Given the description of an element on the screen output the (x, y) to click on. 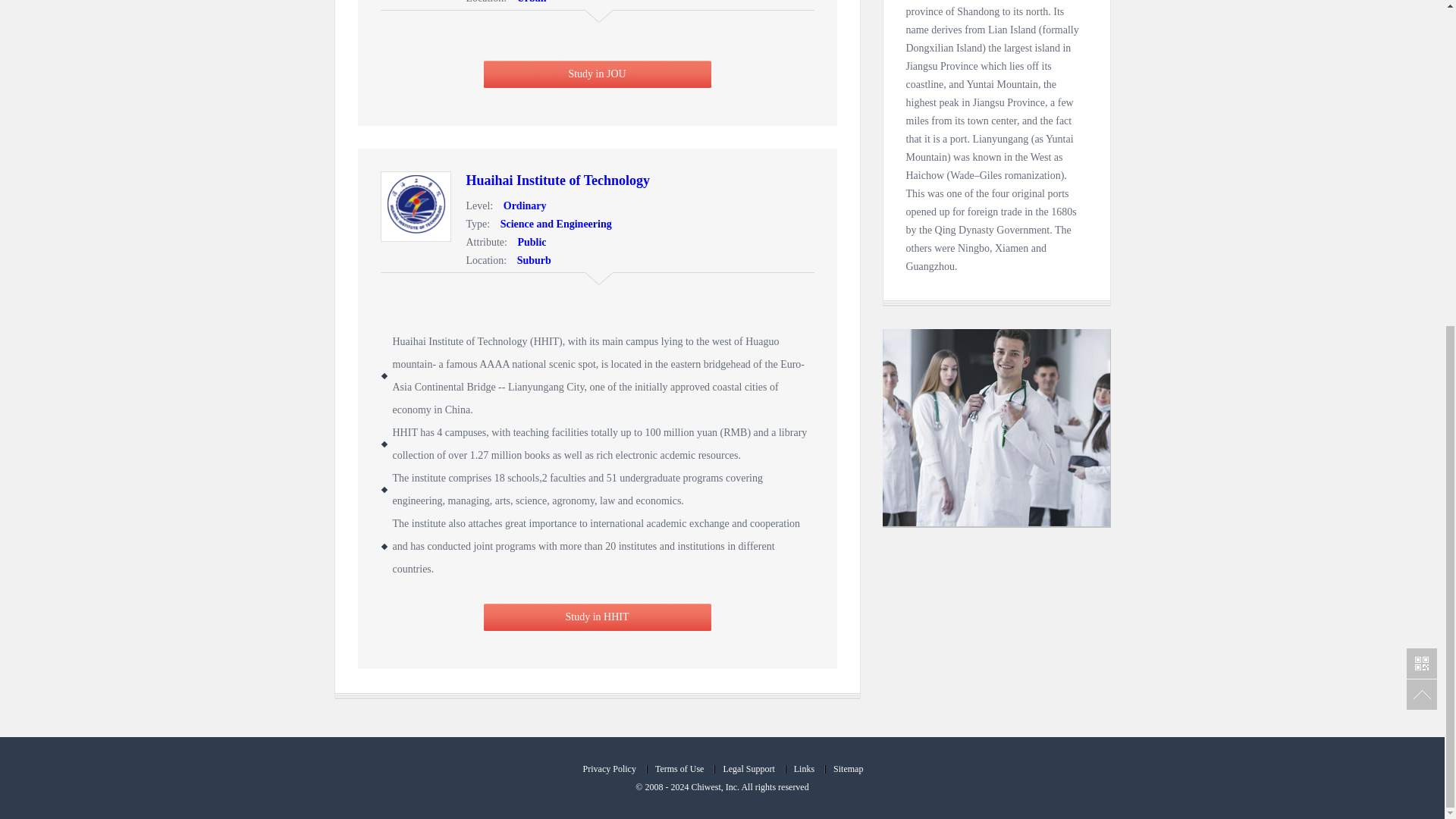
Study in JOU (597, 73)
Ordinary (521, 205)
Terms of Use (678, 768)
Study in HHIT (597, 616)
Sitemap (847, 768)
Links (803, 768)
Legal Support (747, 768)
Privacy Policy (608, 768)
Science and Engineering (552, 224)
Huaihai Institute of Technology (557, 180)
